Given the description of an element on the screen output the (x, y) to click on. 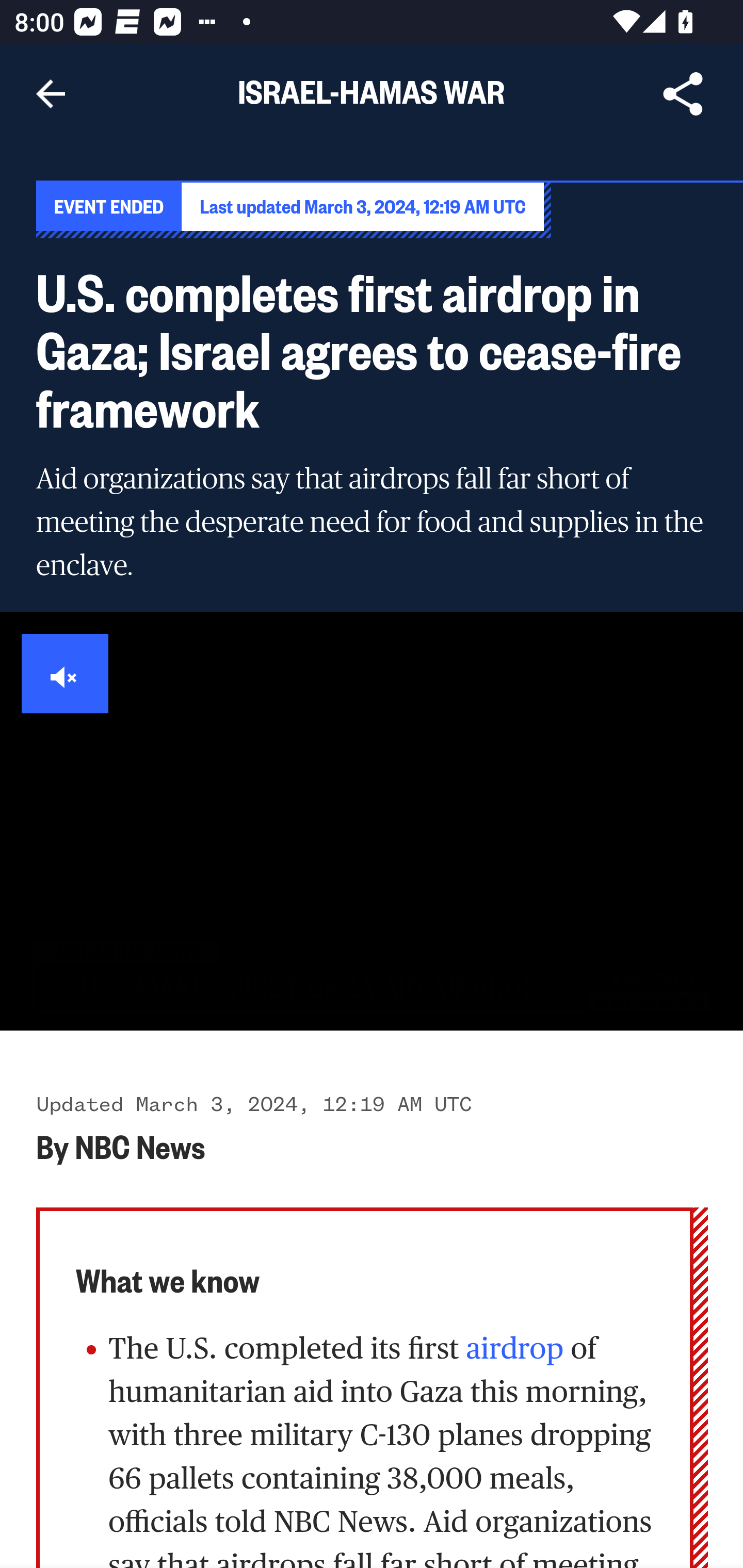
Navigate up (50, 93)
Share Article, button (683, 94)
 (65, 673)
 airdrop (511, 1347)
